Given the description of an element on the screen output the (x, y) to click on. 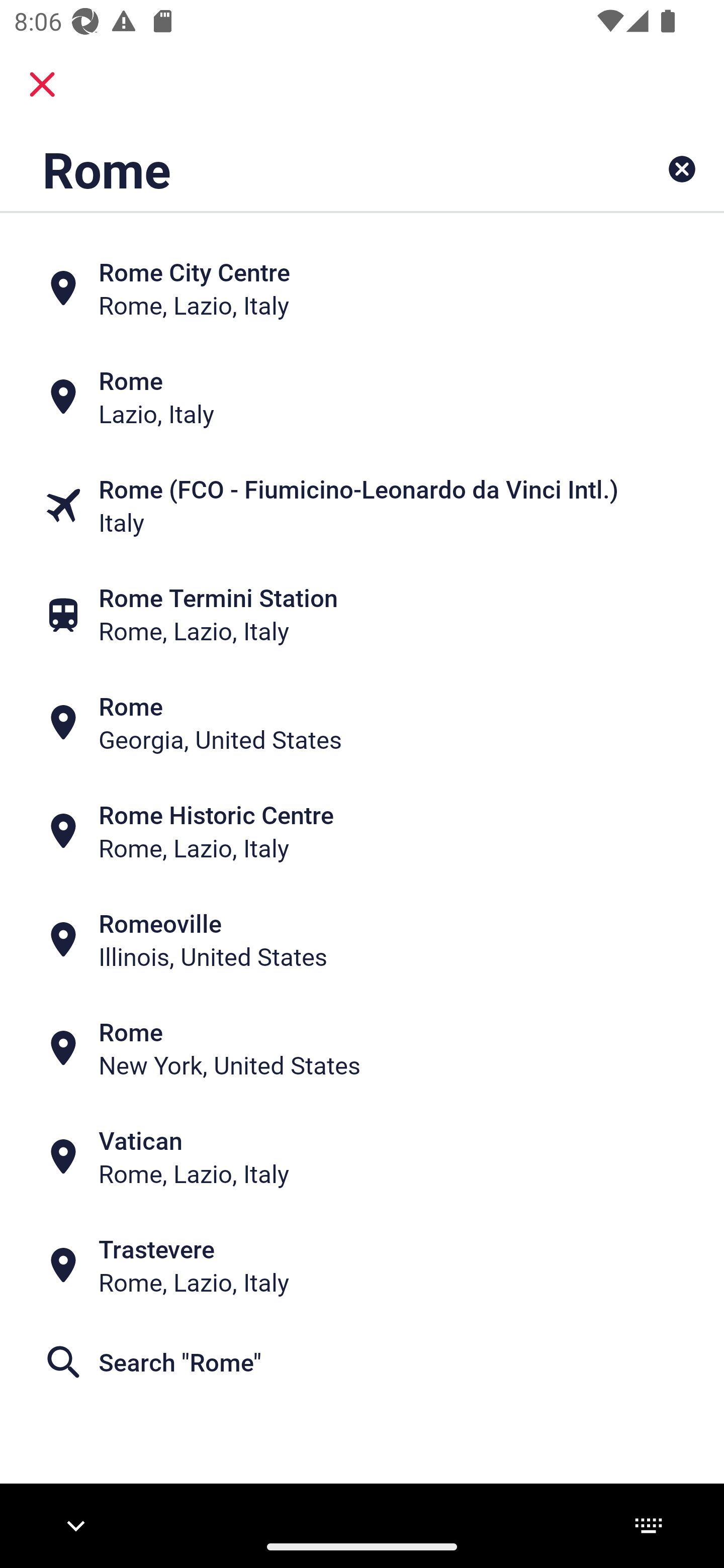
close. (42, 84)
Clear (681, 169)
Rome (298, 169)
Rome City Centre Rome, Lazio, Italy (362, 288)
Rome Lazio, Italy (362, 397)
Rome Termini Station Rome, Lazio, Italy (362, 613)
Rome Georgia, United States (362, 722)
Rome Historic Centre Rome, Lazio, Italy (362, 831)
Romeoville Illinois, United States (362, 939)
Rome New York, United States (362, 1048)
Vatican Rome, Lazio, Italy (362, 1156)
Trastevere Rome, Lazio, Italy (362, 1265)
Search "Rome" (362, 1362)
